Given the description of an element on the screen output the (x, y) to click on. 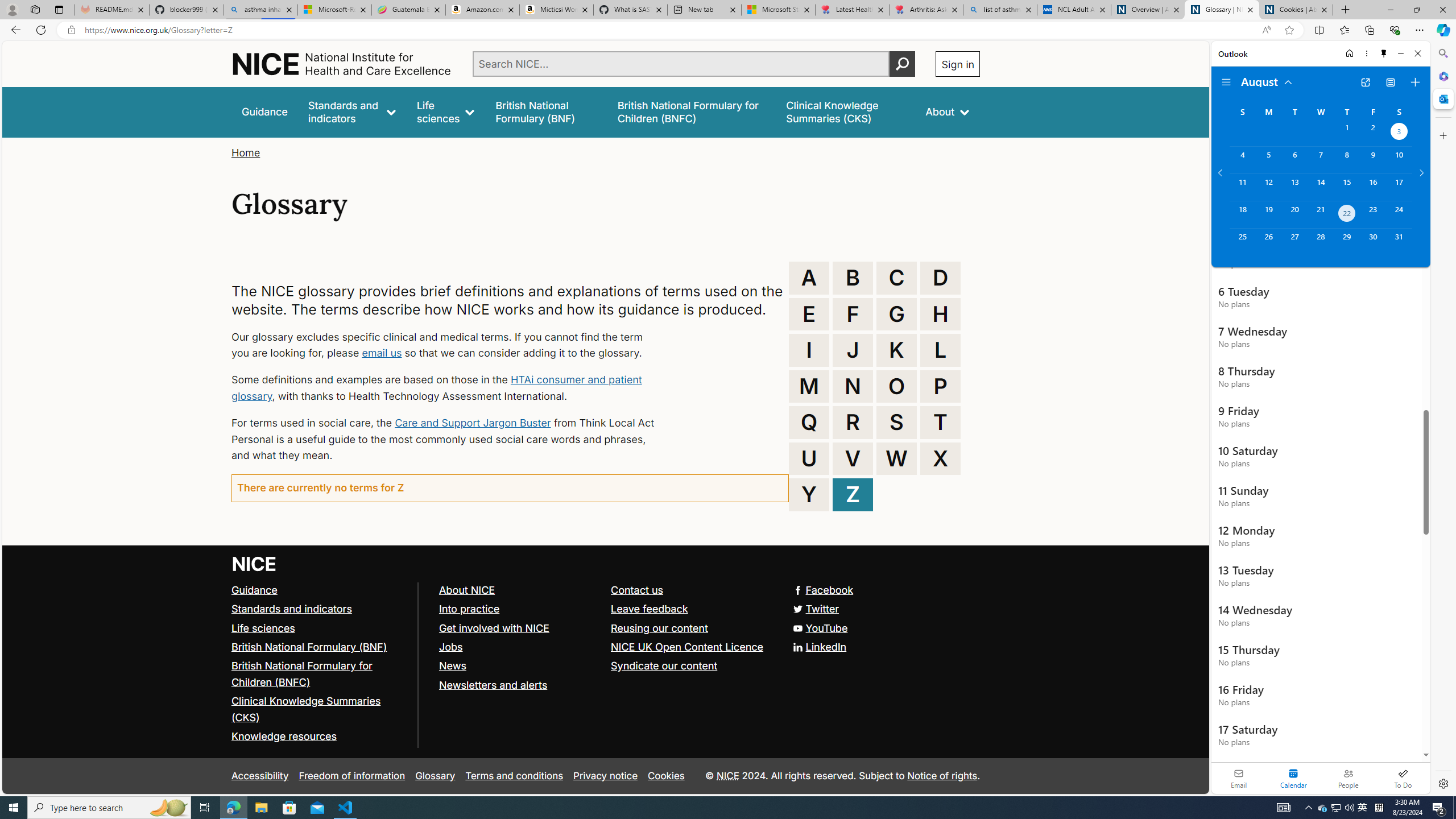
L (940, 350)
M (809, 385)
Z (852, 494)
Wednesday, August 14, 2024.  (1320, 186)
NICE UK Open Content Licence (692, 647)
F (852, 313)
Thursday, August 22, 2024. Today.  (1346, 214)
Cookies | About | NICE (1295, 9)
N (852, 385)
